Given the description of an element on the screen output the (x, y) to click on. 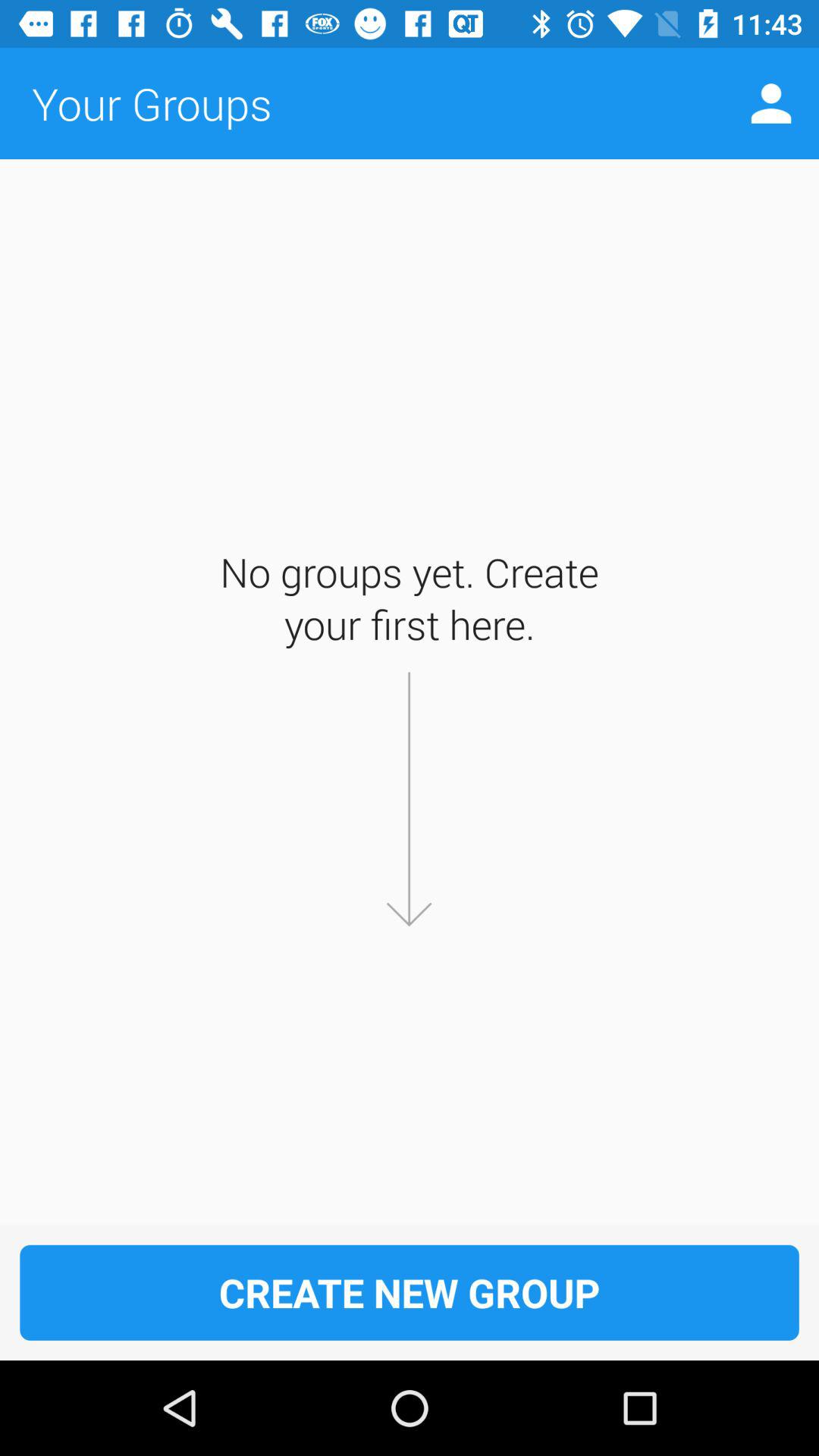
open icon to the right of the your groups (771, 103)
